Given the description of an element on the screen output the (x, y) to click on. 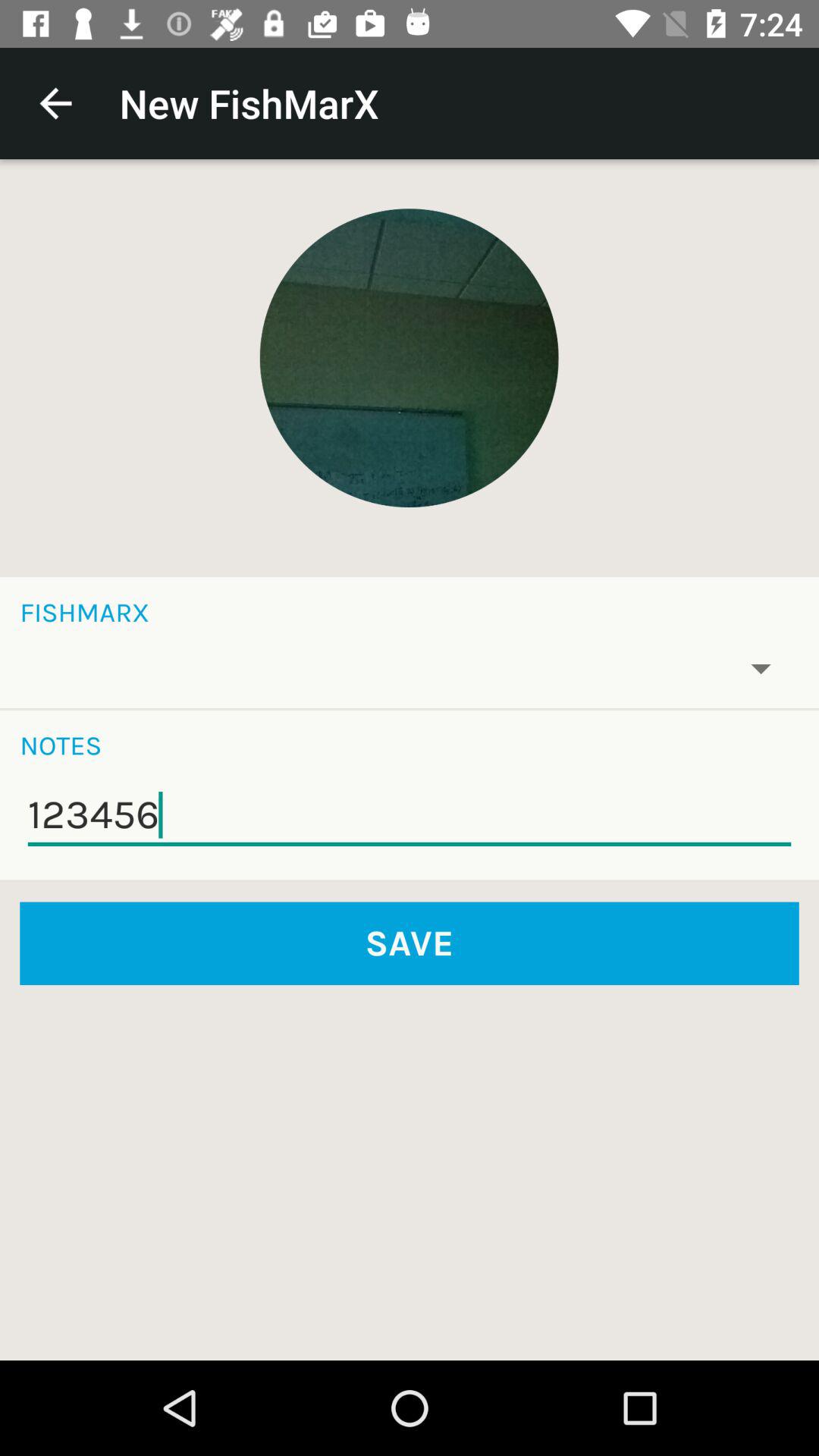
turn off icon below notes icon (409, 815)
